Given the description of an element on the screen output the (x, y) to click on. 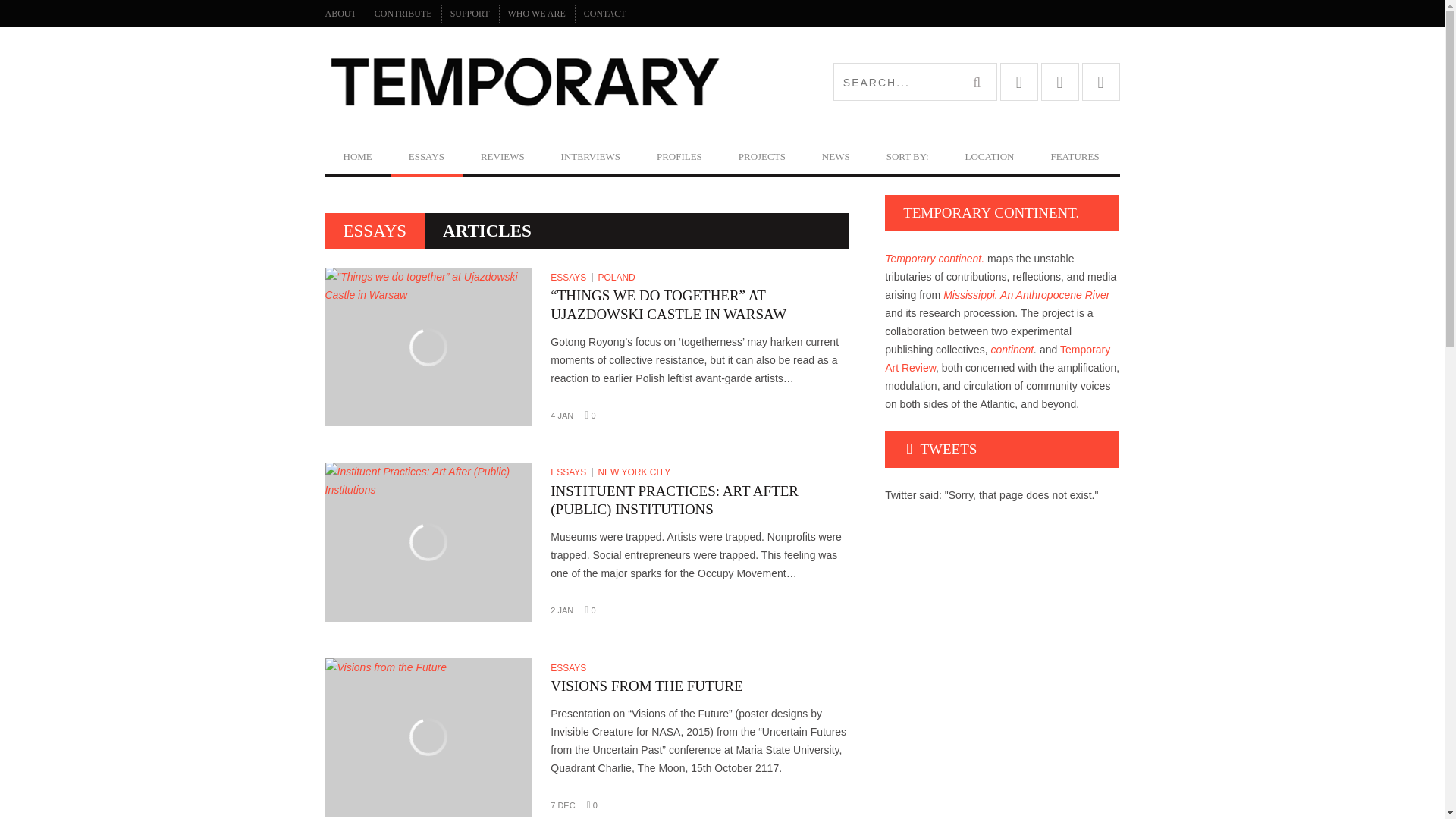
View all posts in Poland (617, 276)
View all posts in New York City (635, 471)
Temporary Art Review (523, 81)
View all posts in Essays (570, 667)
View all posts in Essays (571, 276)
View all posts in Essays (571, 471)
